Given the description of an element on the screen output the (x, y) to click on. 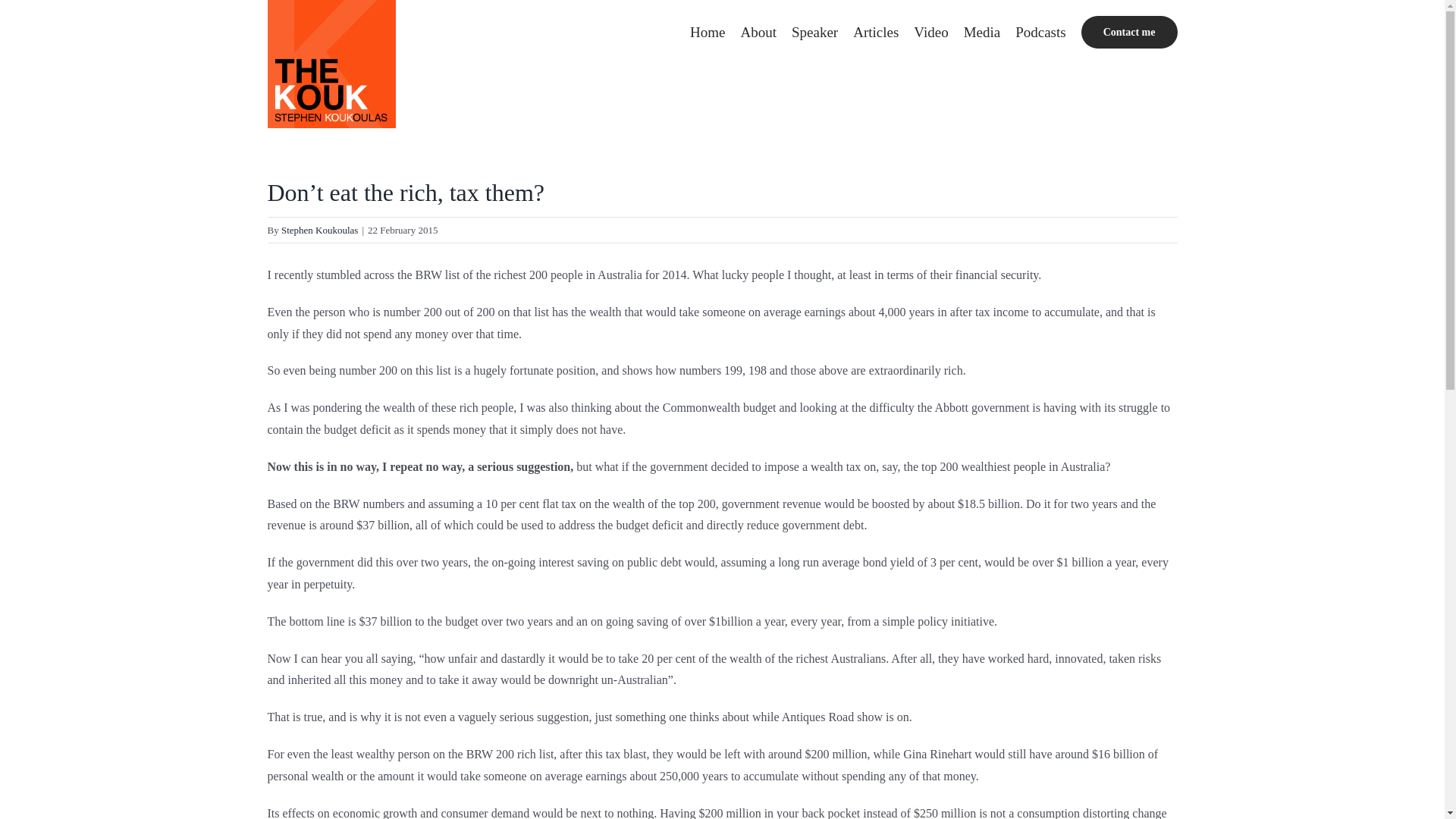
Contact me (1129, 31)
Posts by Stephen Koukoulas (319, 229)
